Given the description of an element on the screen output the (x, y) to click on. 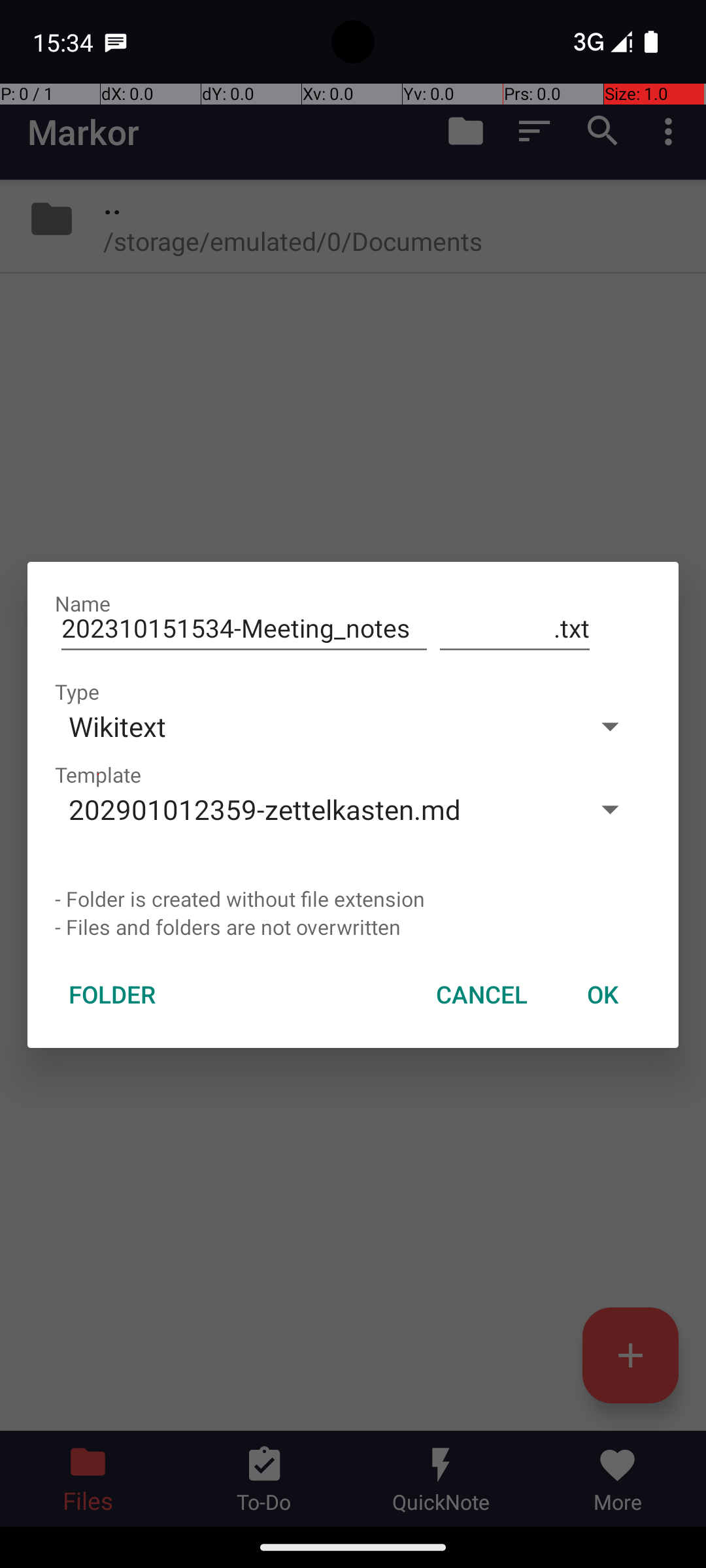
202310151534-Meeting_notes Element type: android.widget.EditText (243, 628)
.txt Element type: android.widget.EditText (514, 628)
Type Element type: android.widget.TextView (76, 691)
Template Element type: android.widget.TextView (97, 774)
- Folder is created without file extension Element type: android.widget.TextView (352, 898)
- Files and folders are not overwritten Element type: android.widget.TextView (352, 926)
FOLDER Element type: android.widget.Button (111, 993)
Wikitext Element type: android.widget.TextView (311, 725)
202901012359-zettelkasten.md Element type: android.widget.TextView (311, 808)
